Given the description of an element on the screen output the (x, y) to click on. 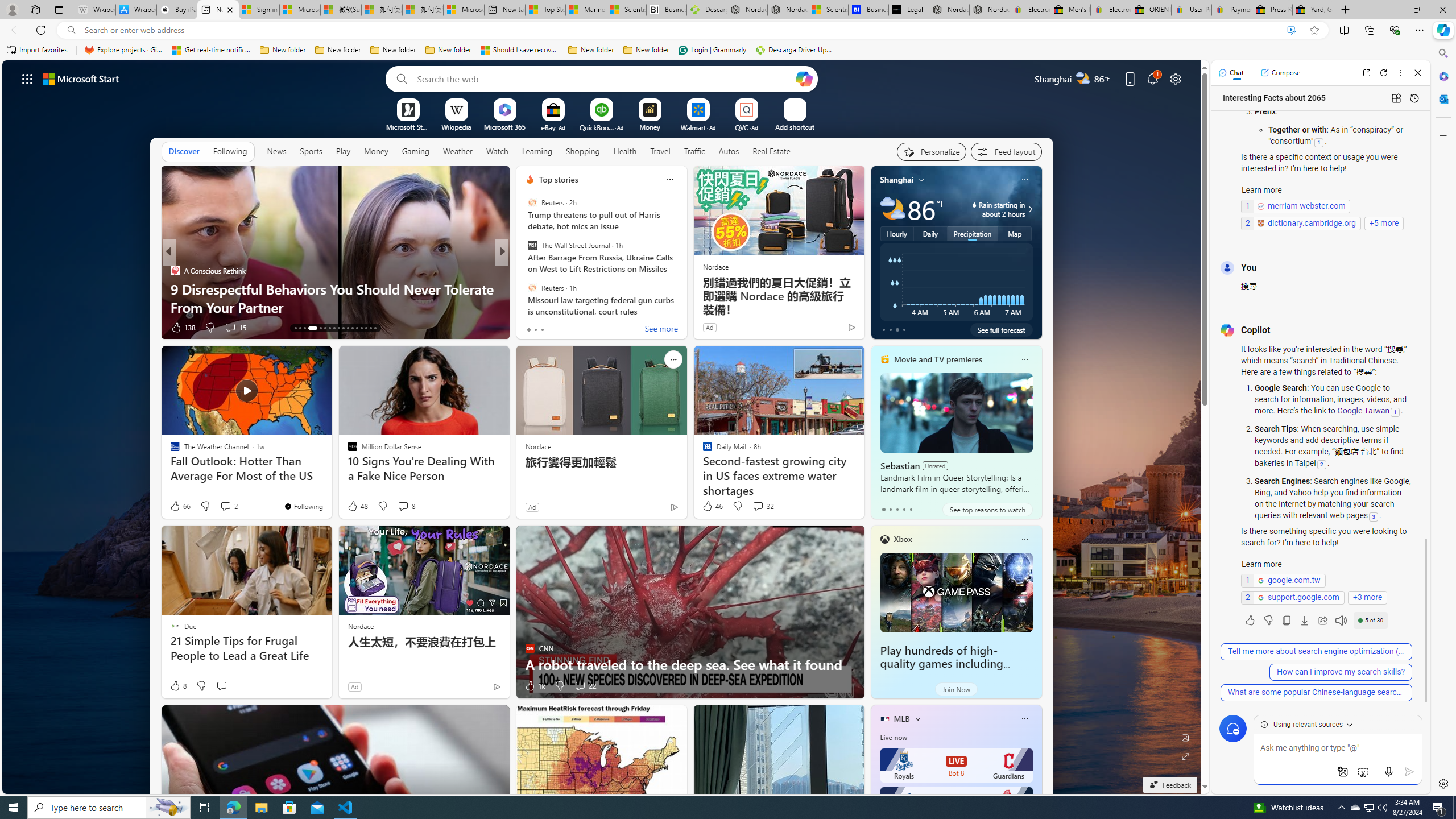
View comments 4 Comment (576, 327)
4 AM 5 AM 6 AM 7 AM (955, 282)
You're following MSNBC (826, 329)
The Wall Street Journal (532, 245)
Million Dollar Sense (524, 288)
AutomationID: tab-22 (343, 328)
The Register (524, 288)
46 Like (712, 505)
MSNBC (524, 270)
